Given the description of an element on the screen output the (x, y) to click on. 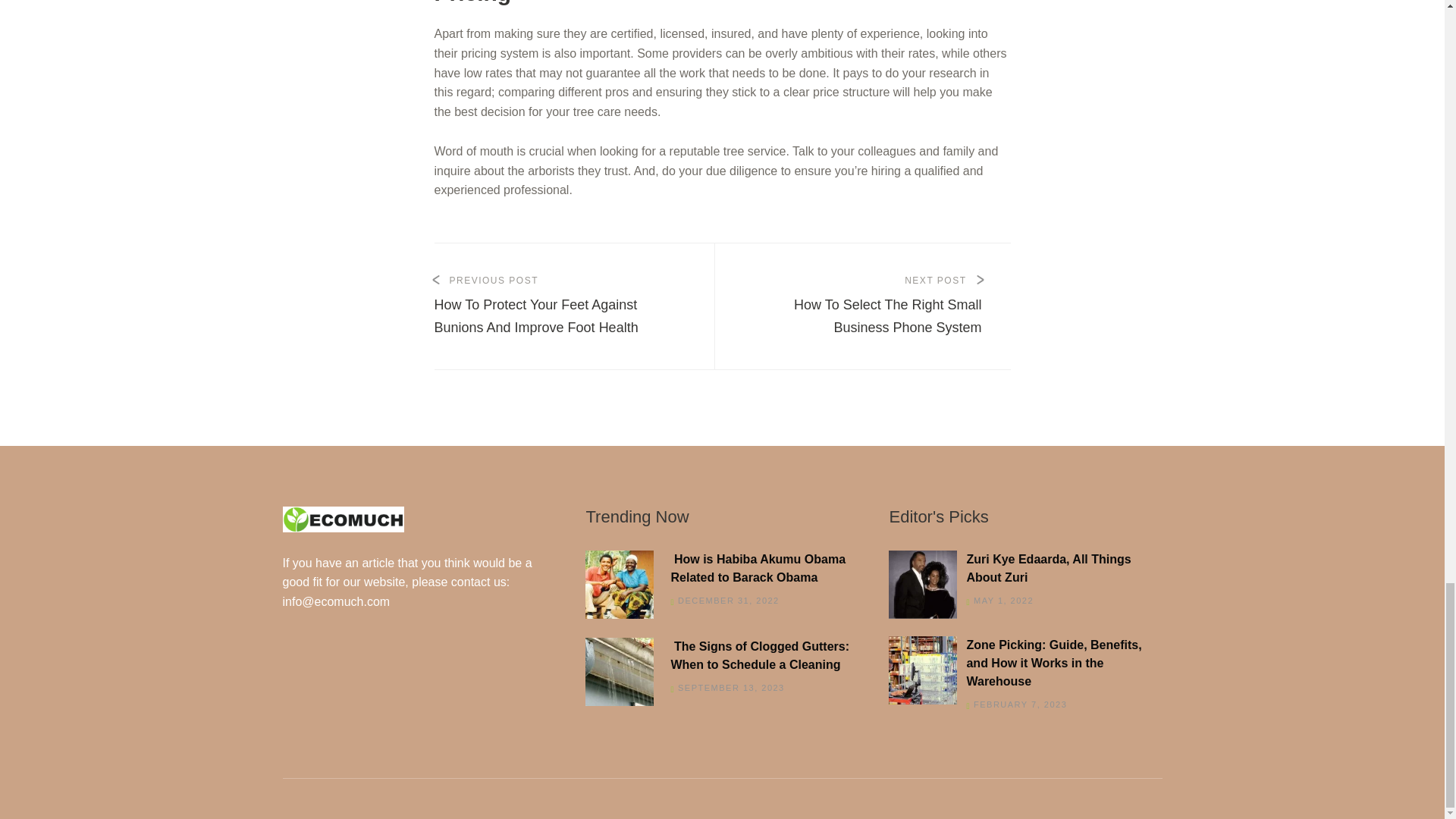
Zuri Kye Edaarda, All Things About Zuri (1021, 568)
 How is Habiba Akumu Obama Related to Barack Obama (717, 568)
 The Signs of Clogged Gutters: When to Schedule a Cleaning (717, 656)
